Given the description of an element on the screen output the (x, y) to click on. 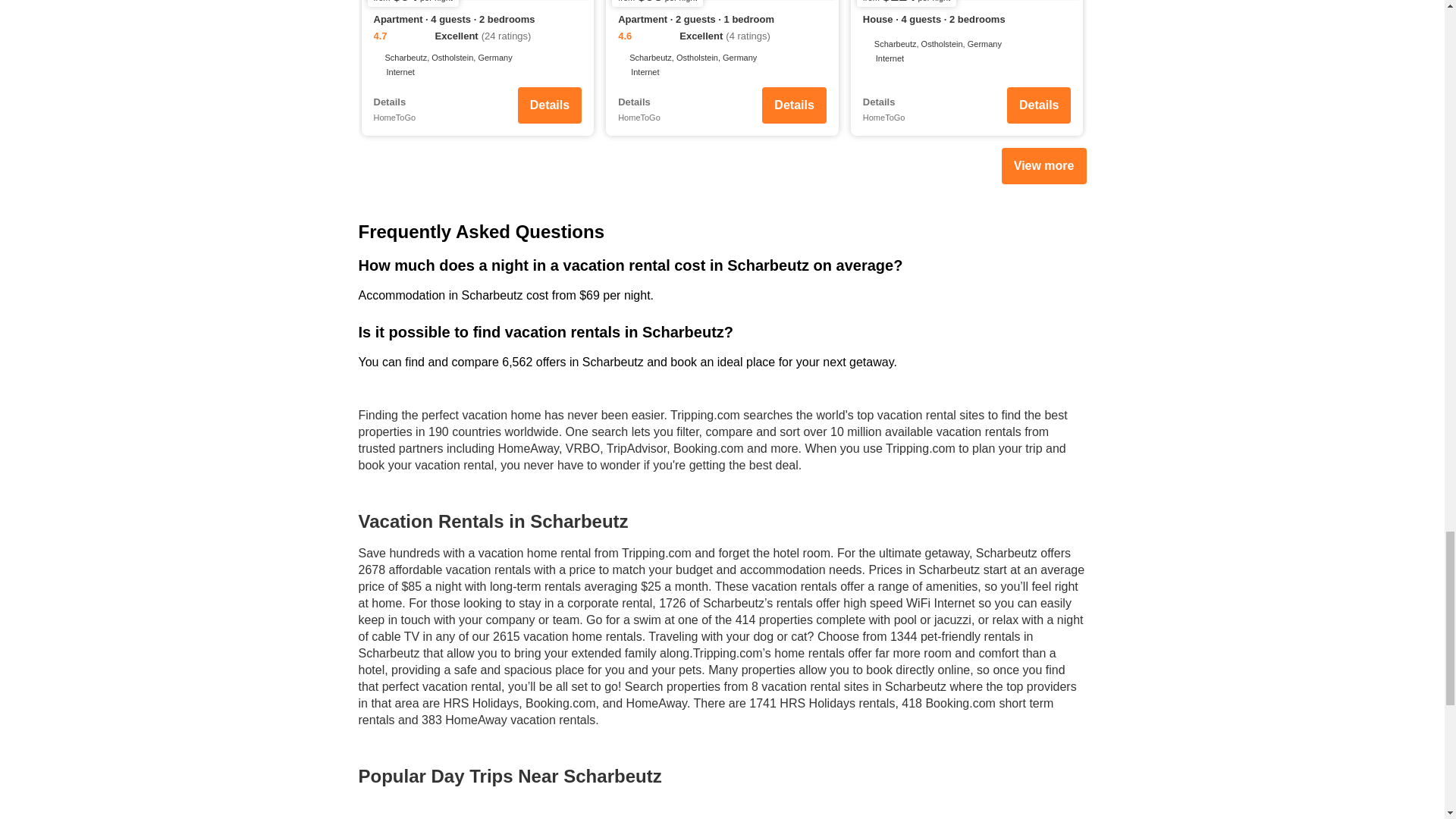
Grebin (968, 815)
Grebin (968, 815)
Boiensdorf (475, 815)
Boiensdorf (475, 815)
Ahrensburg (722, 815)
Ahrensburg (722, 815)
